Given the description of an element on the screen output the (x, y) to click on. 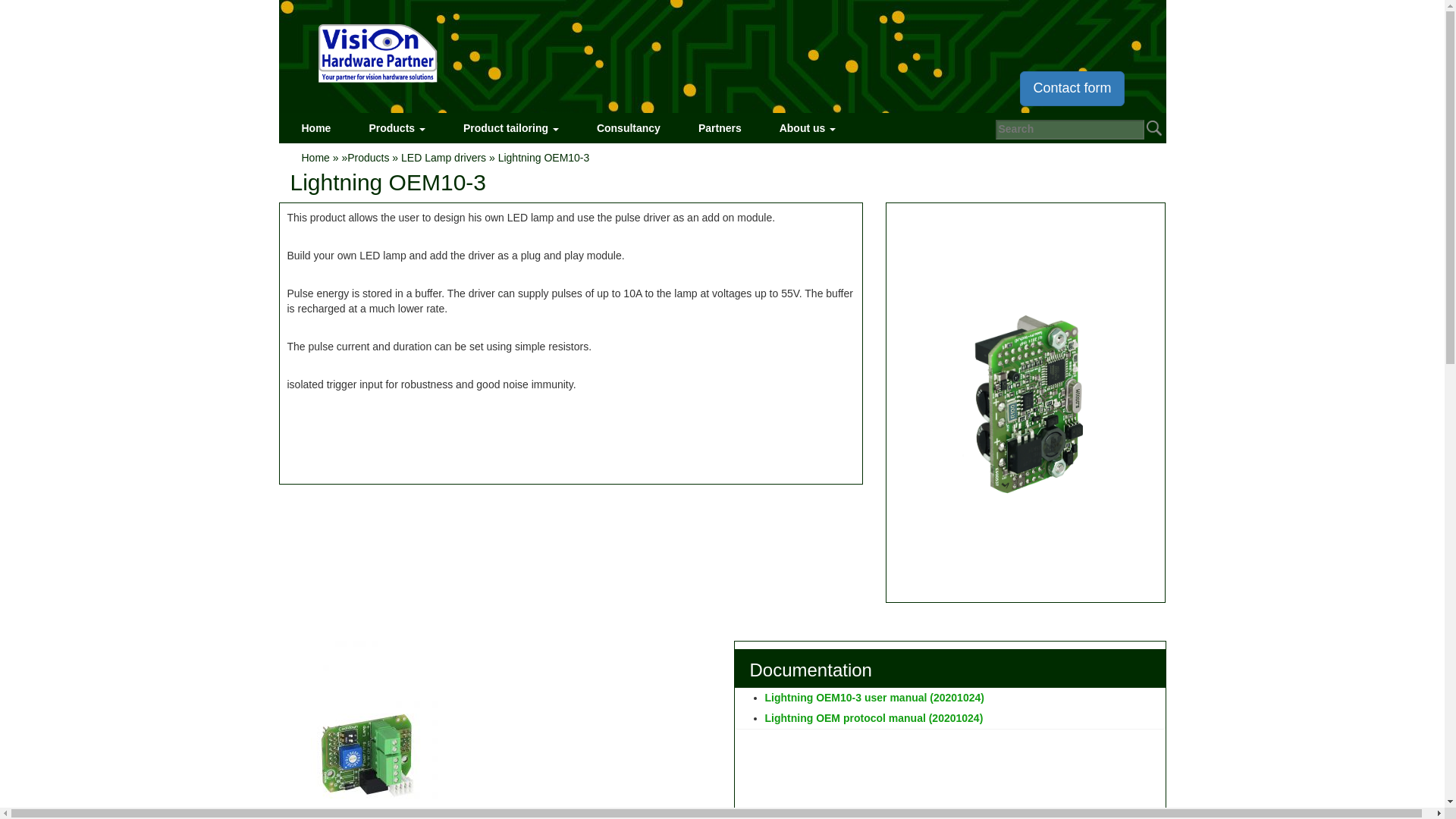
Products (396, 128)
Product tailoring (510, 128)
Contact form (1072, 88)
Products (396, 128)
Home (315, 128)
Home (315, 128)
